Given the description of an element on the screen output the (x, y) to click on. 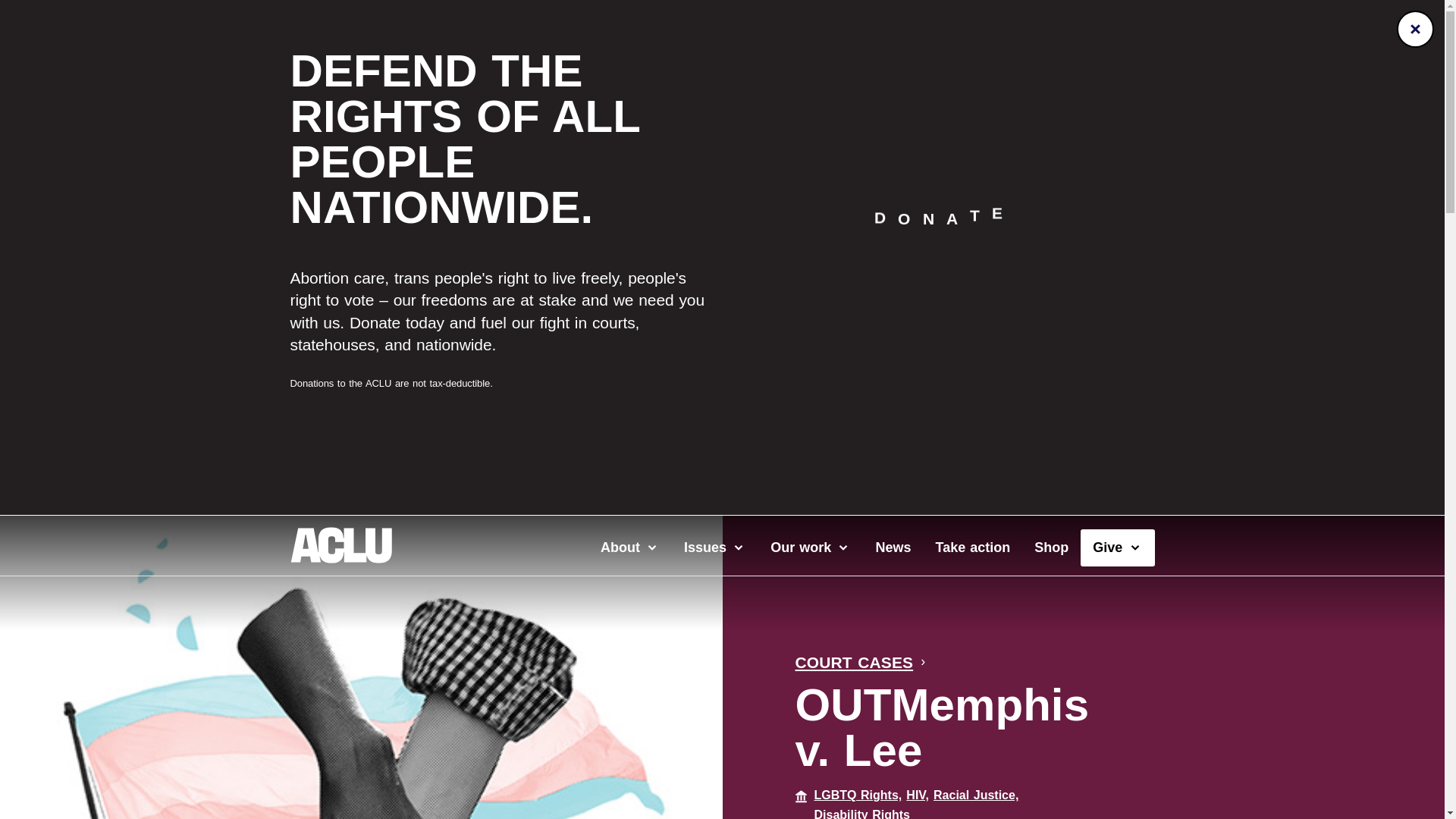
Issues (714, 547)
ACLU.org (340, 558)
About (629, 547)
